Given the description of an element on the screen output the (x, y) to click on. 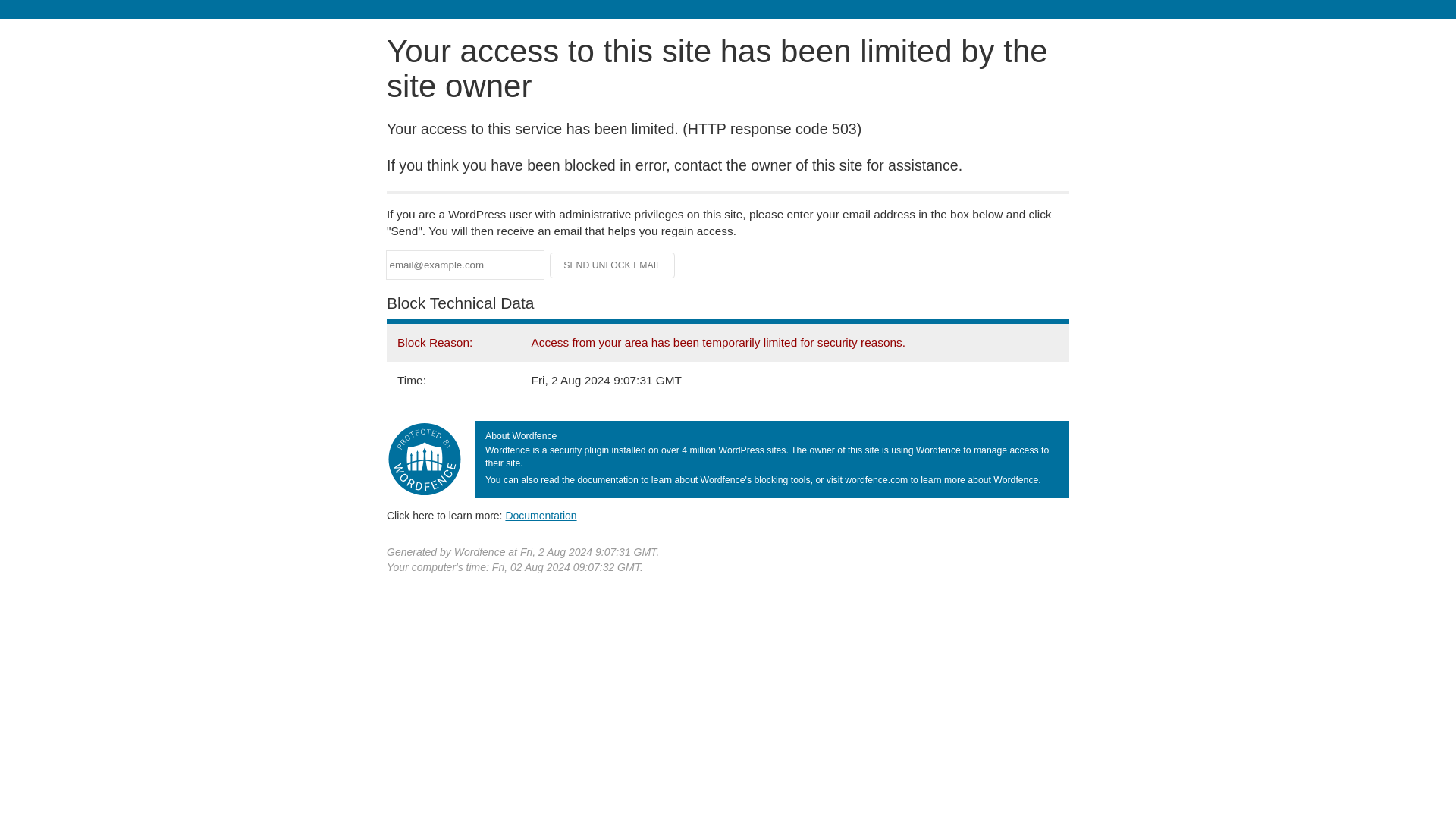
Send Unlock Email (612, 265)
Send Unlock Email (612, 265)
Documentation (540, 515)
